Given the description of an element on the screen output the (x, y) to click on. 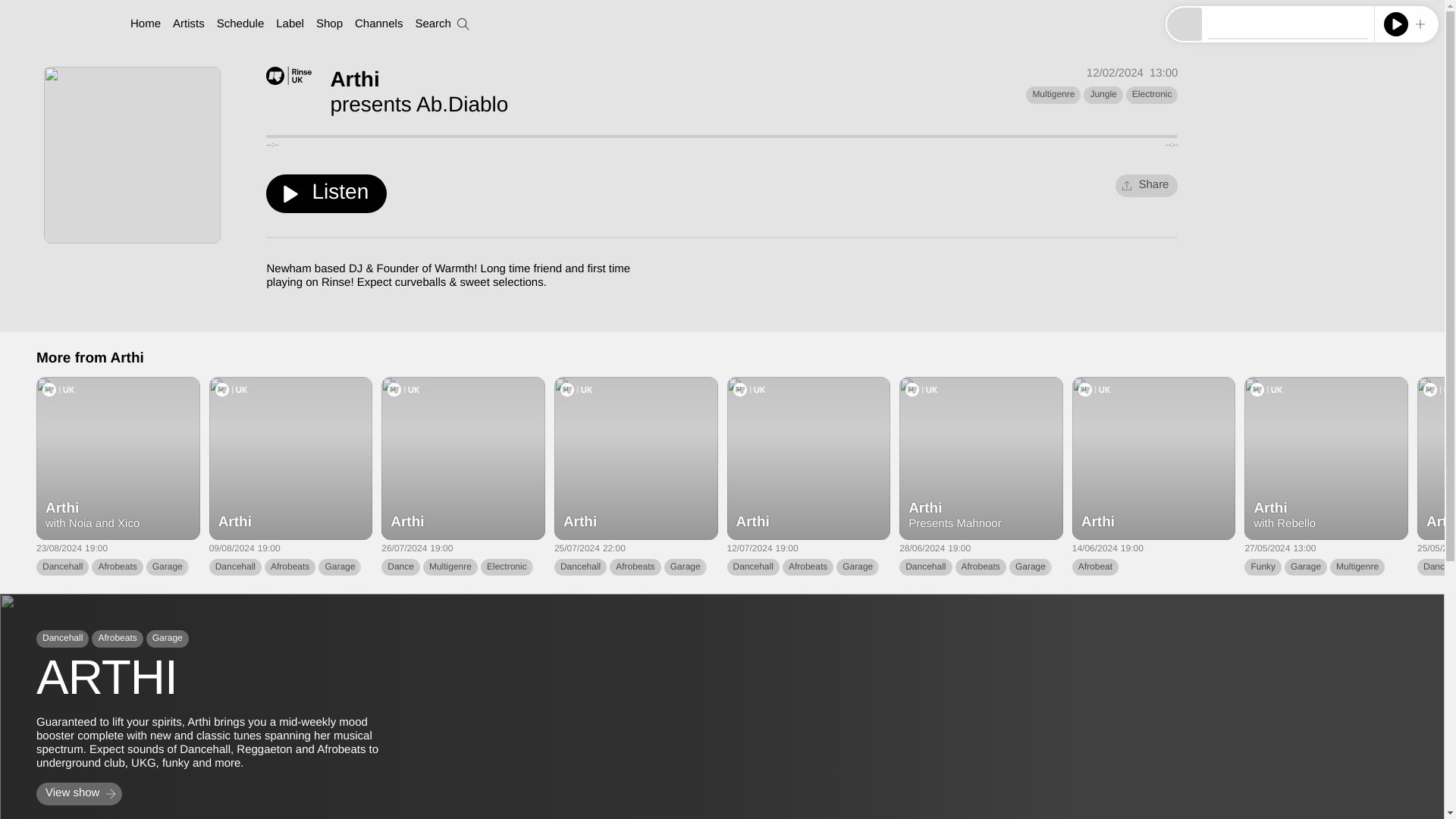
Multigenre (450, 567)
Garage (168, 567)
Channels (379, 24)
Afrobeats (116, 567)
Afrobeats (980, 567)
Garage (339, 567)
More from Arthi (90, 358)
Search (441, 24)
Schedule (240, 24)
Shop (328, 24)
